Given the description of an element on the screen output the (x, y) to click on. 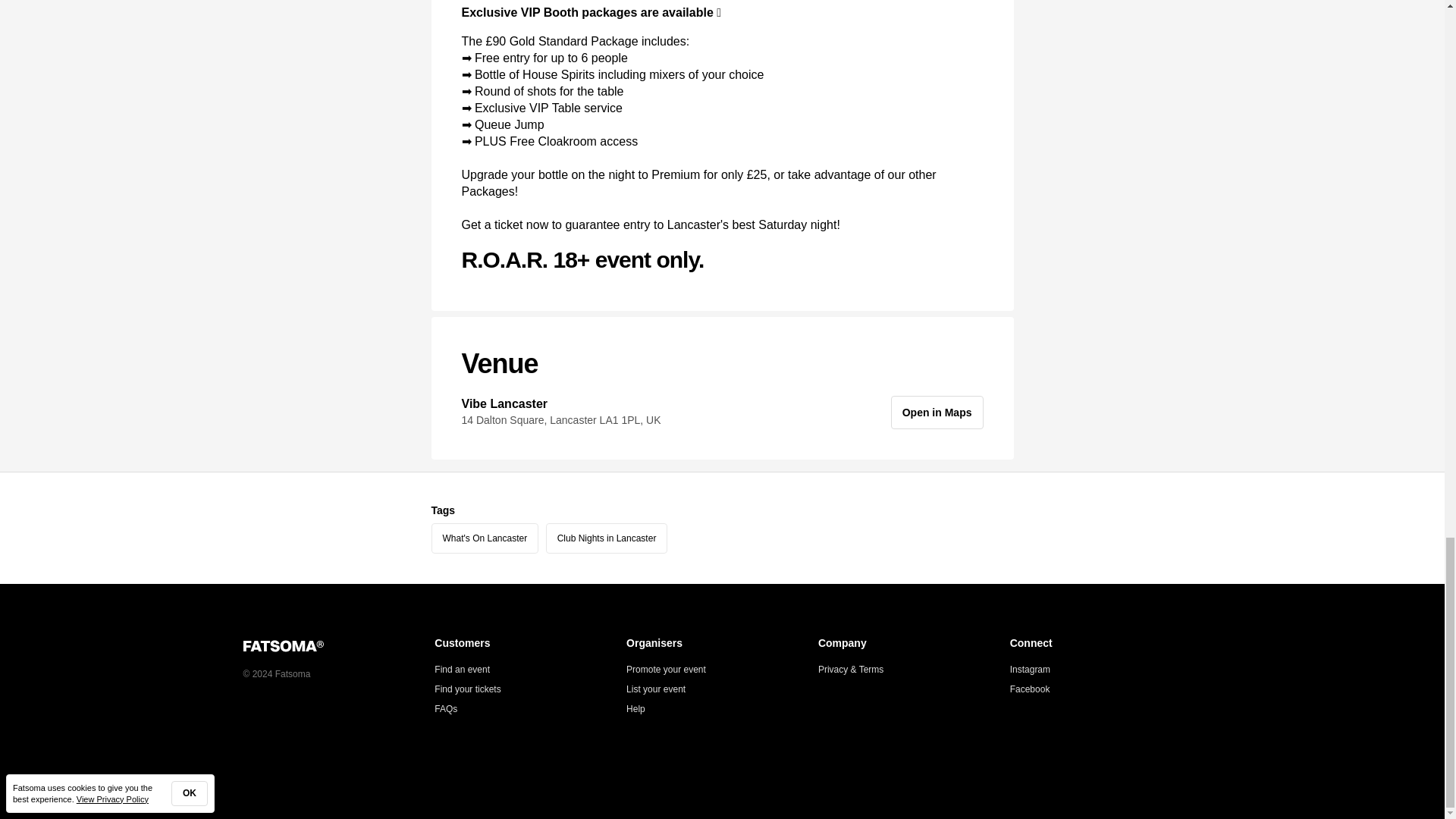
FAQs (445, 708)
Find an event (461, 669)
What's On Lancaster (484, 538)
Fatsoma (283, 645)
Club Nights in Lancaster (607, 538)
List your event (655, 688)
Open in Maps (937, 412)
Fatsoma (338, 645)
Promote your event (666, 669)
Find your tickets (466, 688)
